Given the description of an element on the screen output the (x, y) to click on. 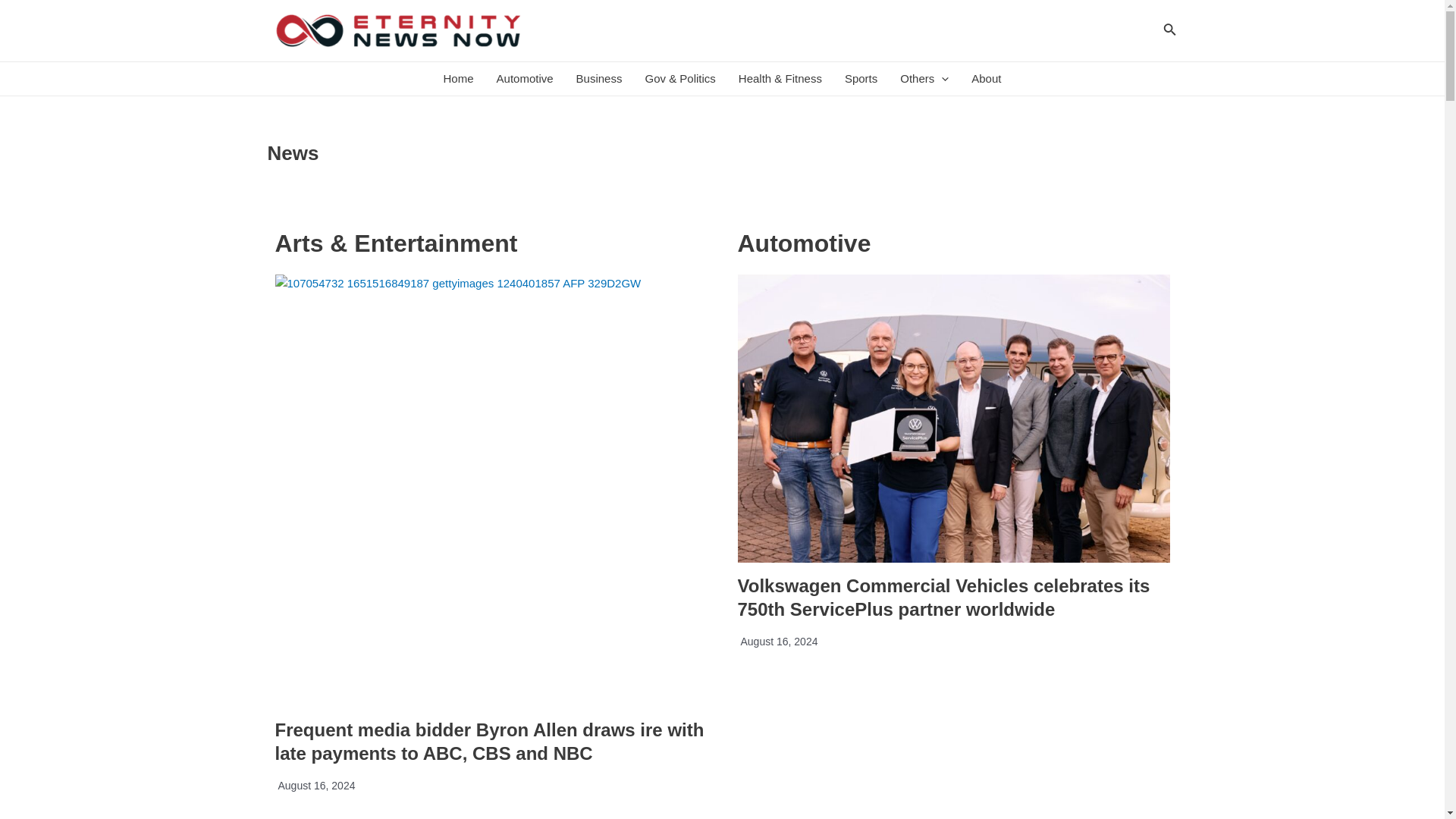
About (985, 78)
Others (923, 78)
Automotive (524, 78)
Business (598, 78)
Home (458, 78)
Sports (860, 78)
